Given the description of an element on the screen output the (x, y) to click on. 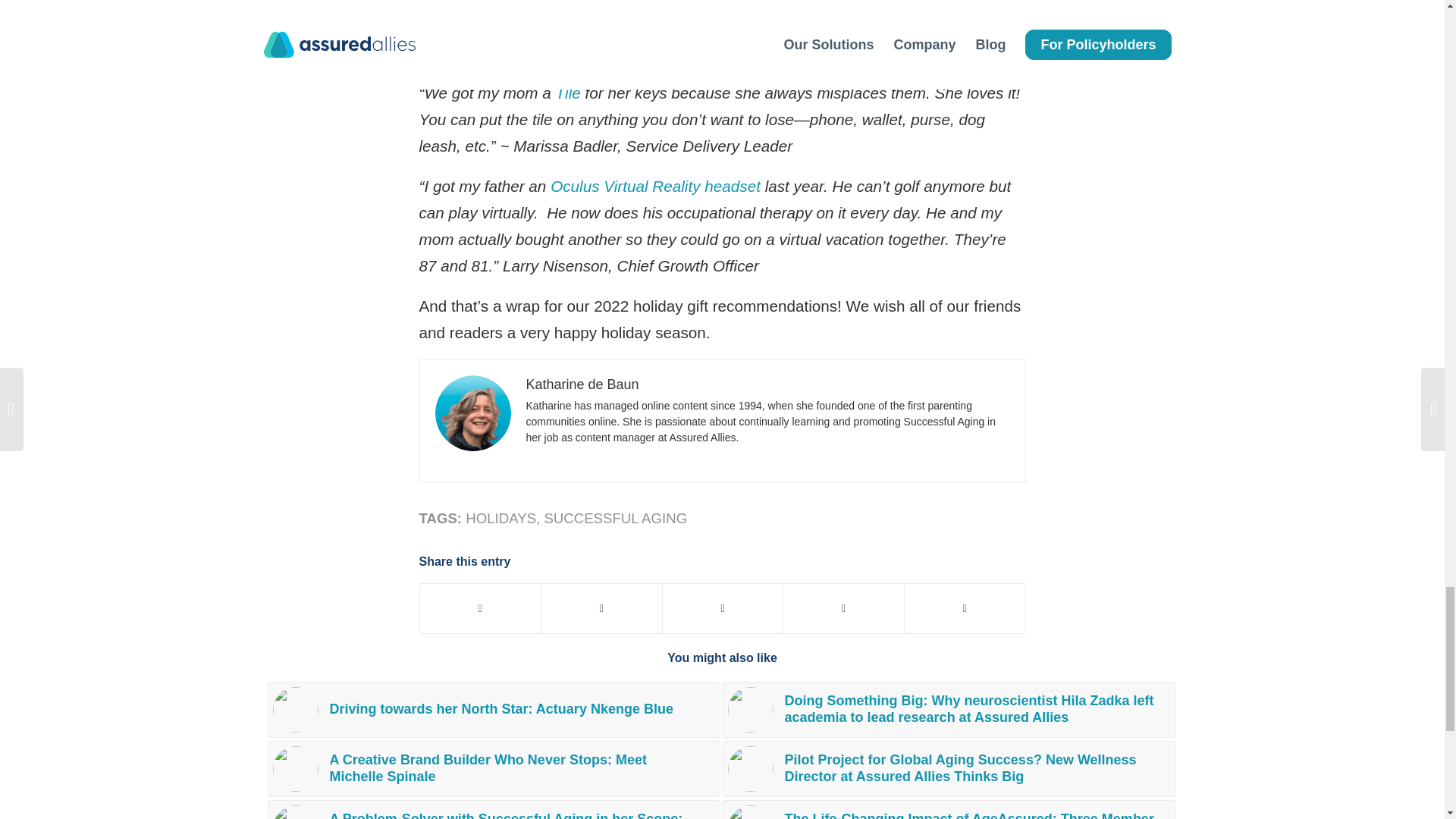
HOLIDAYS (500, 518)
michelle (295, 768)
SUCCESSFUL AGING (615, 518)
Driving towards her North Star: Actuary Nkenge Blue (492, 709)
Tile (568, 92)
Michal Herz lecturing (750, 768)
Driving towards her North Star: Actuary Nkenge Blue (492, 709)
Oculus Virtual Reality headset (655, 185)
Hila Zadka, Phd. (750, 709)
